Given the description of an element on the screen output the (x, y) to click on. 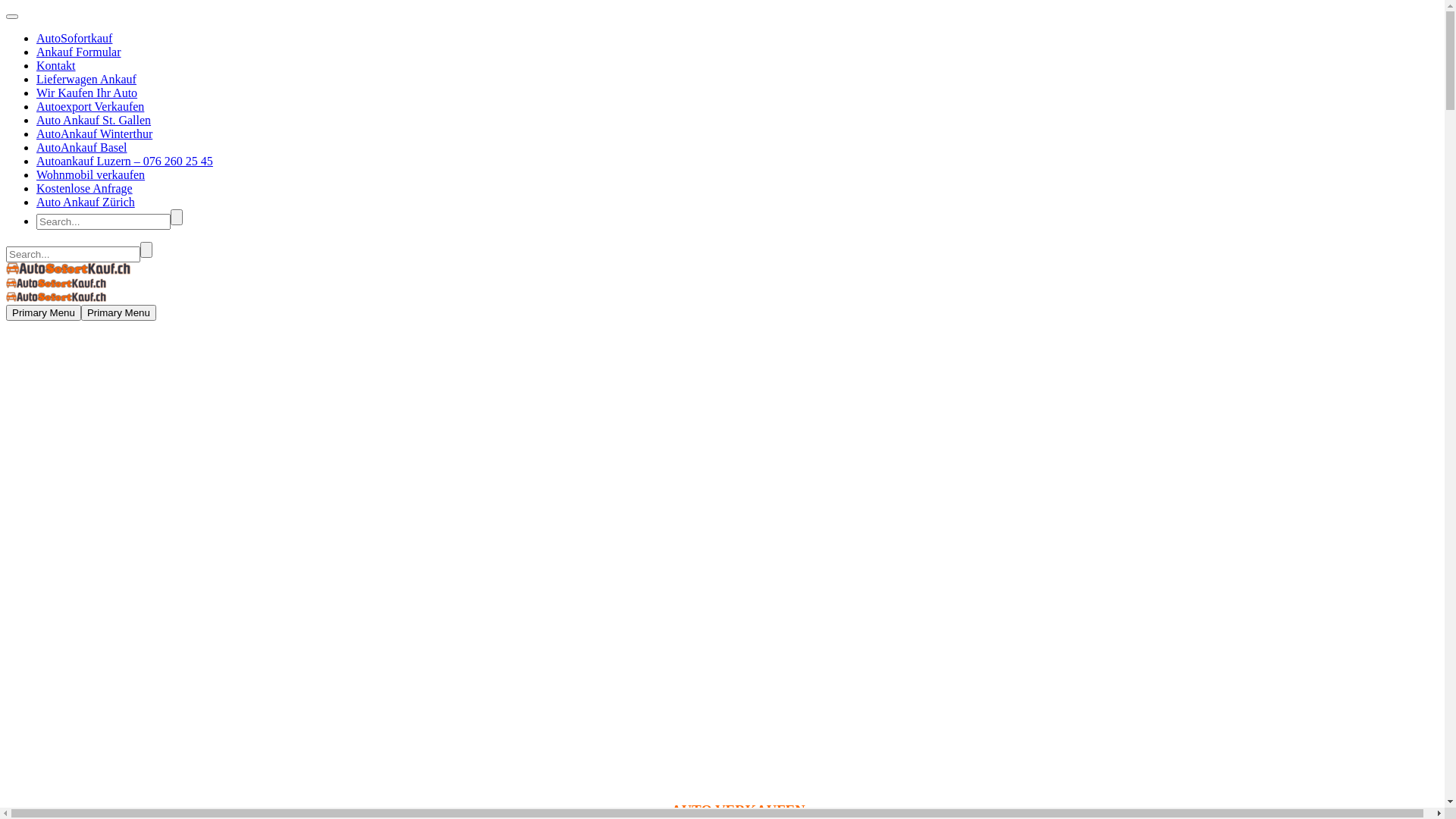
Lieferwagen Ankauf Element type: text (86, 78)
AutoAnkauf Winterthur Element type: text (94, 133)
Wir Kaufen Ihr Auto Element type: text (86, 92)
Wohnmobil verkaufen Element type: text (90, 174)
Kostenlose Anfrage Element type: text (84, 188)
Auto Ankauf St. Gallen Element type: text (93, 119)
AutoSofortkauf Element type: text (74, 37)
Primary Menu Element type: text (43, 312)
Kontakt Element type: text (55, 65)
Primary Menu Element type: text (118, 312)
AutoAnkauf Basel Element type: text (81, 147)
Ankauf Formular Element type: text (78, 51)
Autoexport Verkaufen Element type: text (90, 106)
